Given the description of an element on the screen output the (x, y) to click on. 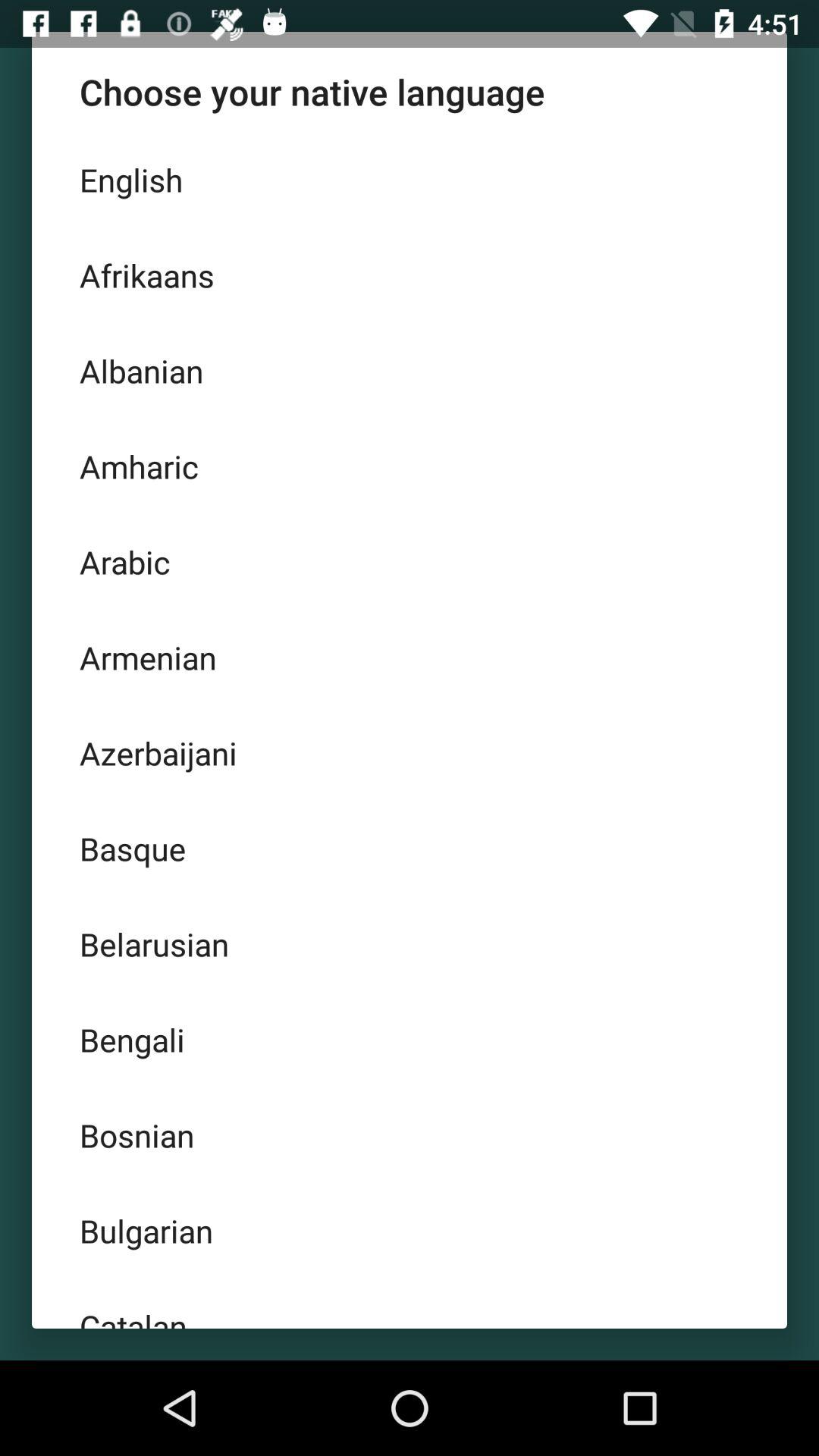
tap bulgarian icon (409, 1230)
